Given the description of an element on the screen output the (x, y) to click on. 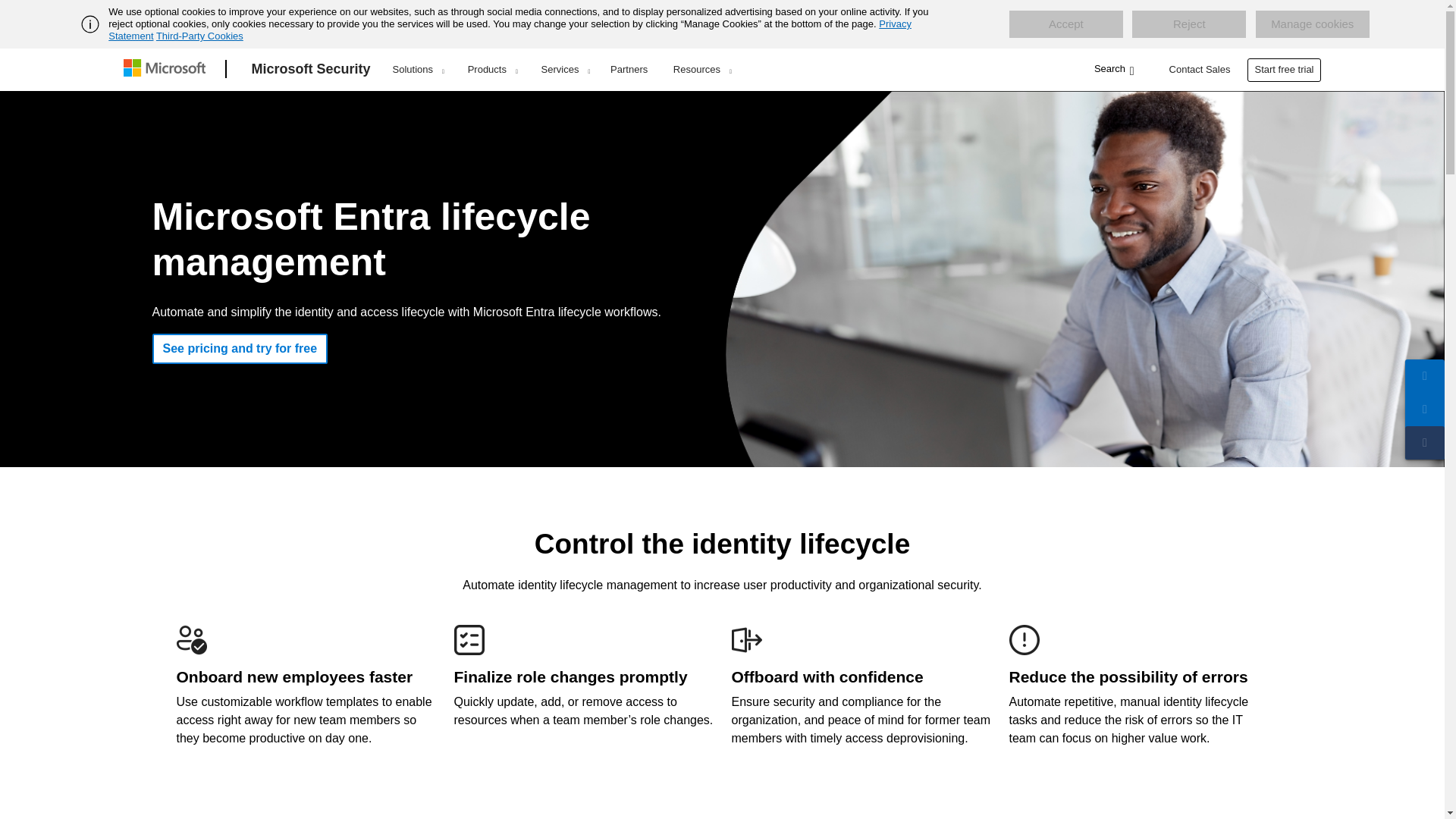
Microsoft Security (311, 69)
Manage cookies (1312, 23)
Solutions (418, 69)
Products (491, 69)
Accept (1065, 23)
Microsoft (167, 69)
Third-Party Cookies (199, 35)
Privacy Statement (509, 29)
Reject (1189, 23)
